Given the description of an element on the screen output the (x, y) to click on. 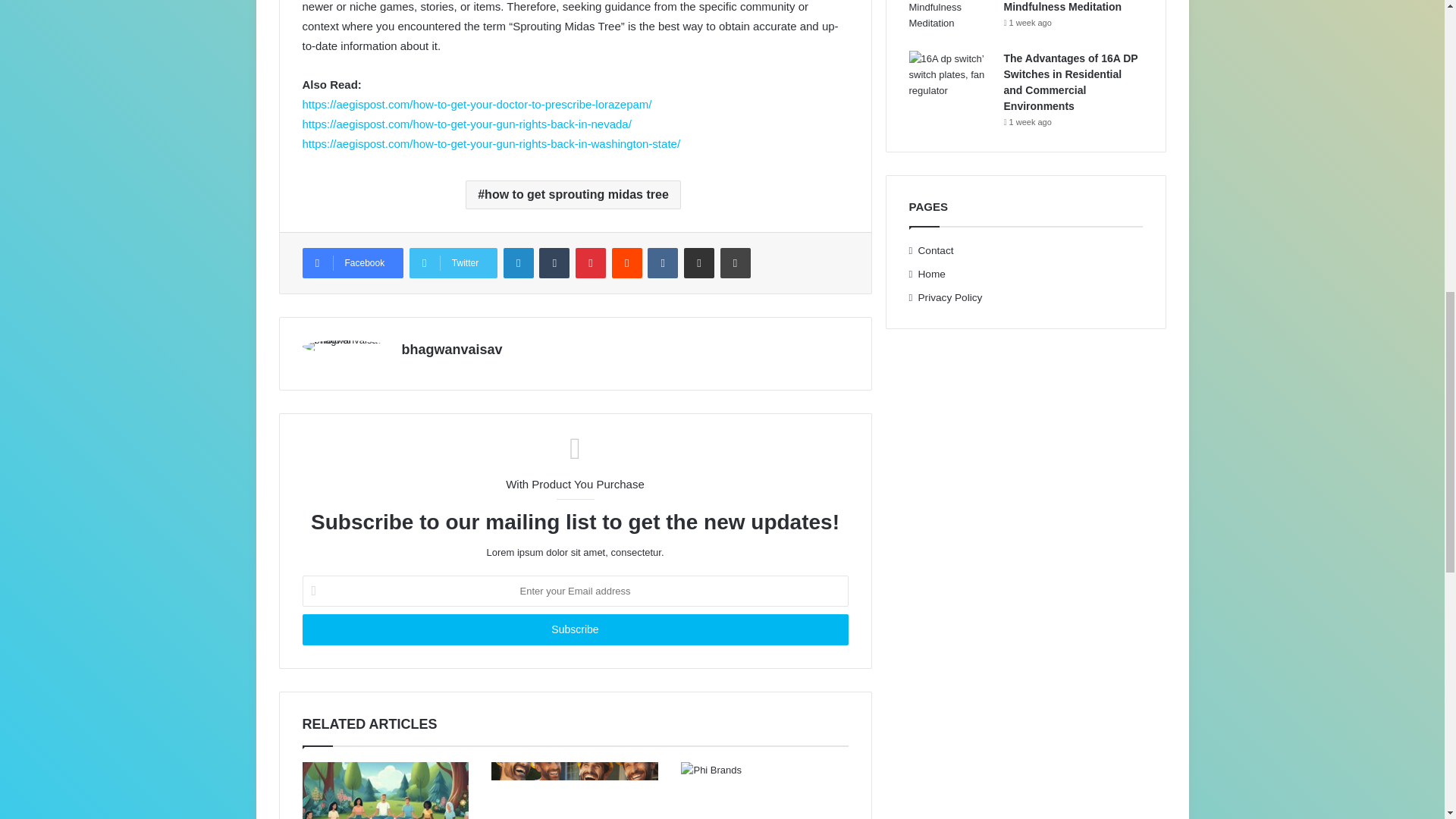
Share via Email (699, 263)
Tumblr (553, 263)
LinkedIn (518, 263)
Pinterest (590, 263)
Reddit (626, 263)
Share via Email (699, 263)
LinkedIn (518, 263)
Tumblr (553, 263)
Facebook (352, 263)
VKontakte (662, 263)
